Given the description of an element on the screen output the (x, y) to click on. 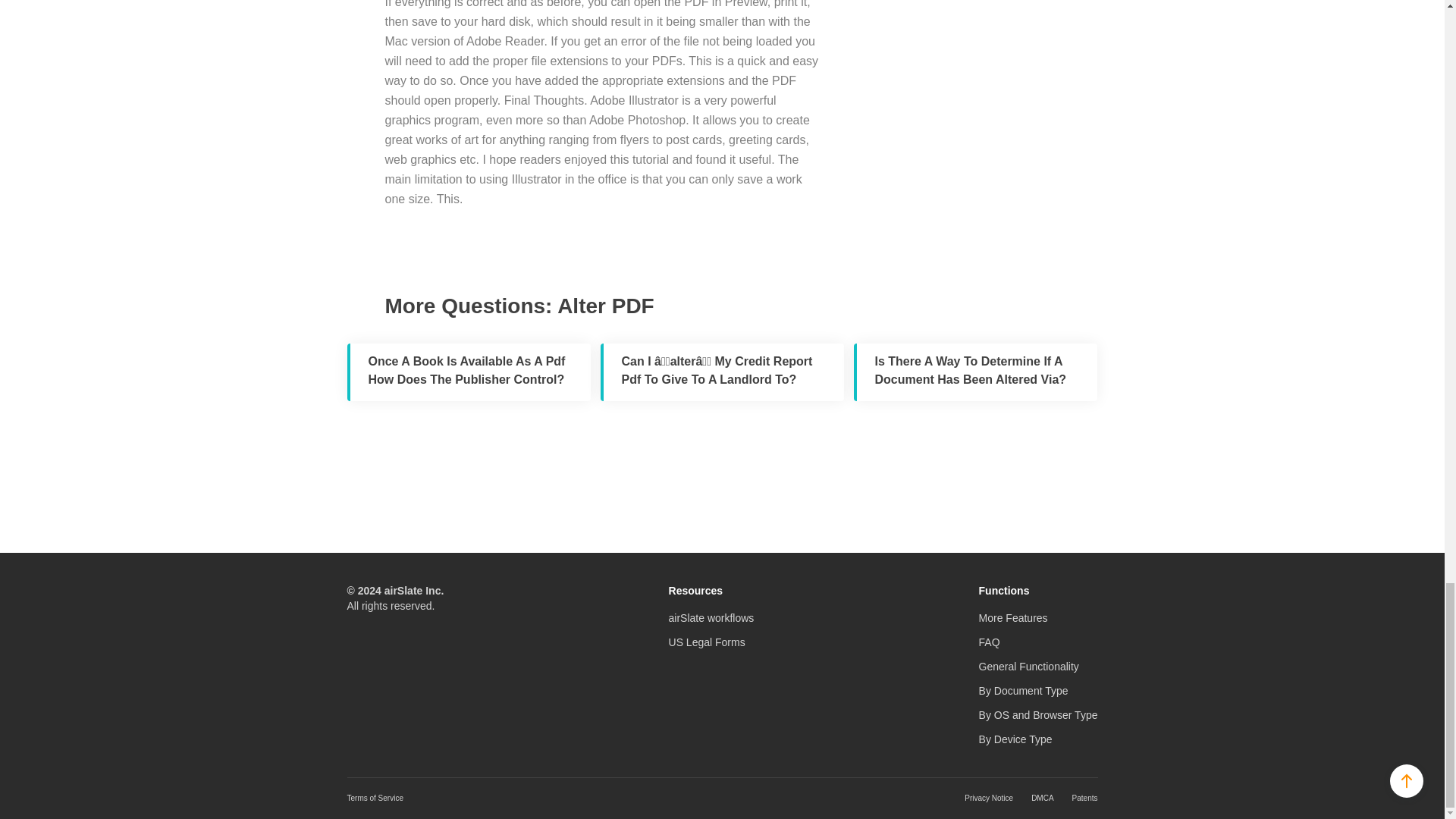
More Features (1013, 617)
Privacy Notice (988, 798)
By Device Type (1015, 739)
US Legal Forms (706, 642)
FAQ (989, 642)
airSlate workflows (711, 617)
By Document Type (1023, 690)
General Functionality (1028, 666)
